Given the description of an element on the screen output the (x, y) to click on. 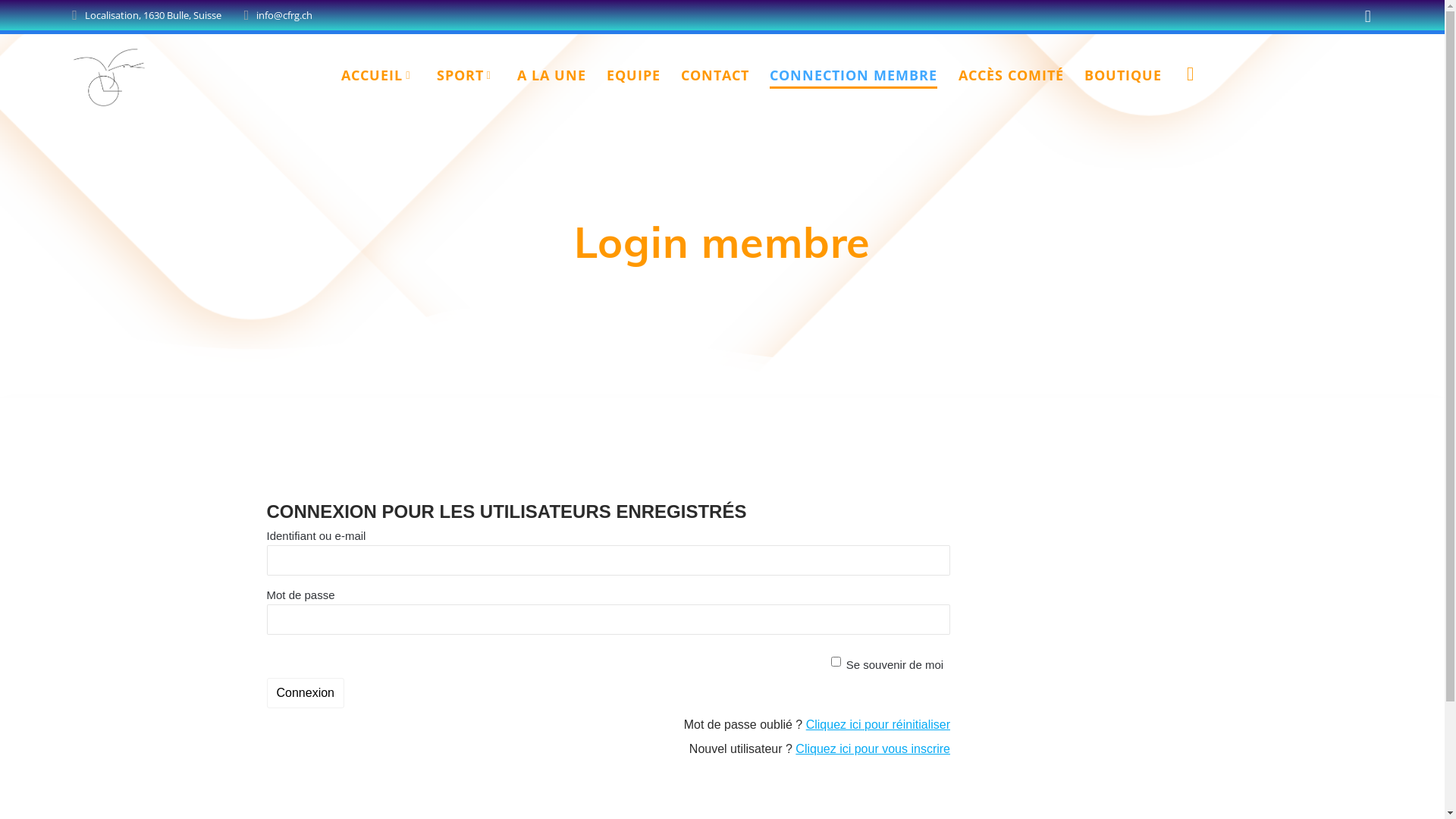
CONNECTION MEMBRE Element type: text (853, 76)
BOUTIQUE Element type: text (1122, 76)
Connexion Element type: text (305, 692)
Cliquez ici pour vous inscrire Element type: text (872, 748)
EQUIPE Element type: text (633, 76)
SPORT Element type: text (466, 76)
CONTACT Element type: text (714, 76)
ACCUEIL Element type: text (378, 76)
A LA UNE Element type: text (551, 76)
